Given the description of an element on the screen output the (x, y) to click on. 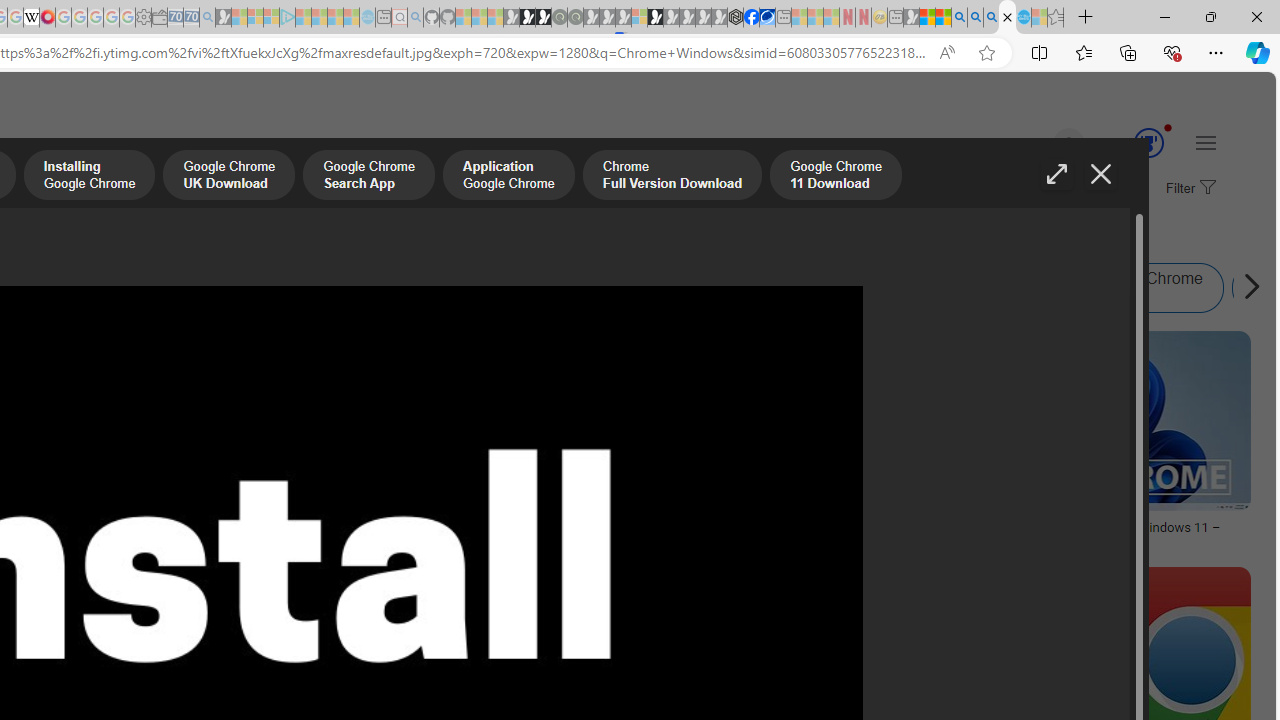
Chrome OS Windows (407, 287)
AutomationID: rh_meter (1148, 142)
Full screen (1055, 173)
MediaWiki (47, 17)
Class: item col (1129, 287)
Bing AI - Search (959, 17)
Settings and quick links (1205, 142)
